Given the description of an element on the screen output the (x, y) to click on. 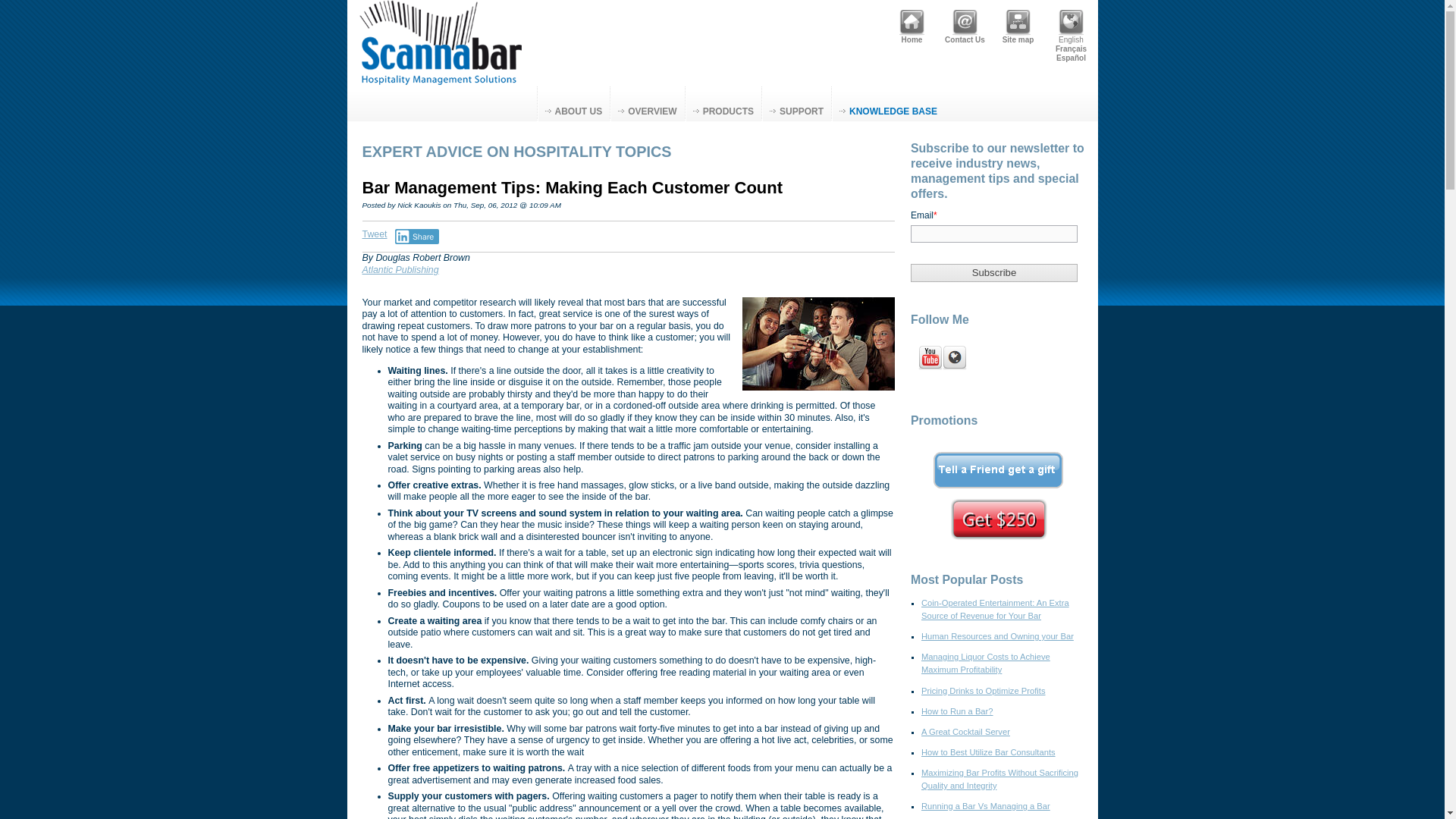
Atlantic Publishing (400, 268)
Atlantic Publishing (400, 268)
Tweet (374, 234)
SUPPORT (796, 103)
Site map (1017, 22)
Bar Management Tips: Making Each Customer Count (572, 187)
Follow us on YouTube (930, 357)
English (1070, 22)
Contact Us (964, 22)
ABOUT US (573, 103)
